Given the description of an element on the screen output the (x, y) to click on. 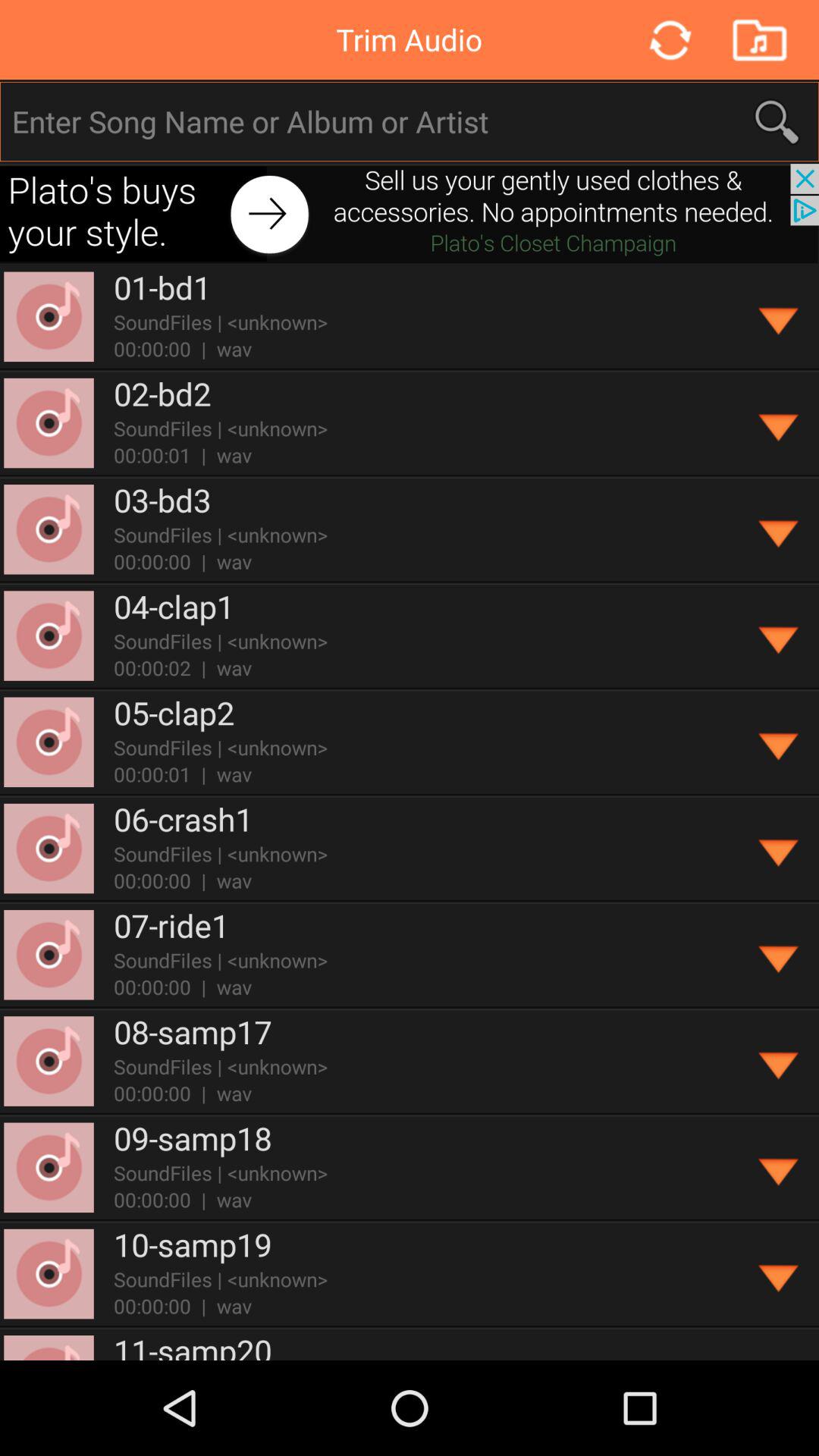
play button (779, 422)
